Given the description of an element on the screen output the (x, y) to click on. 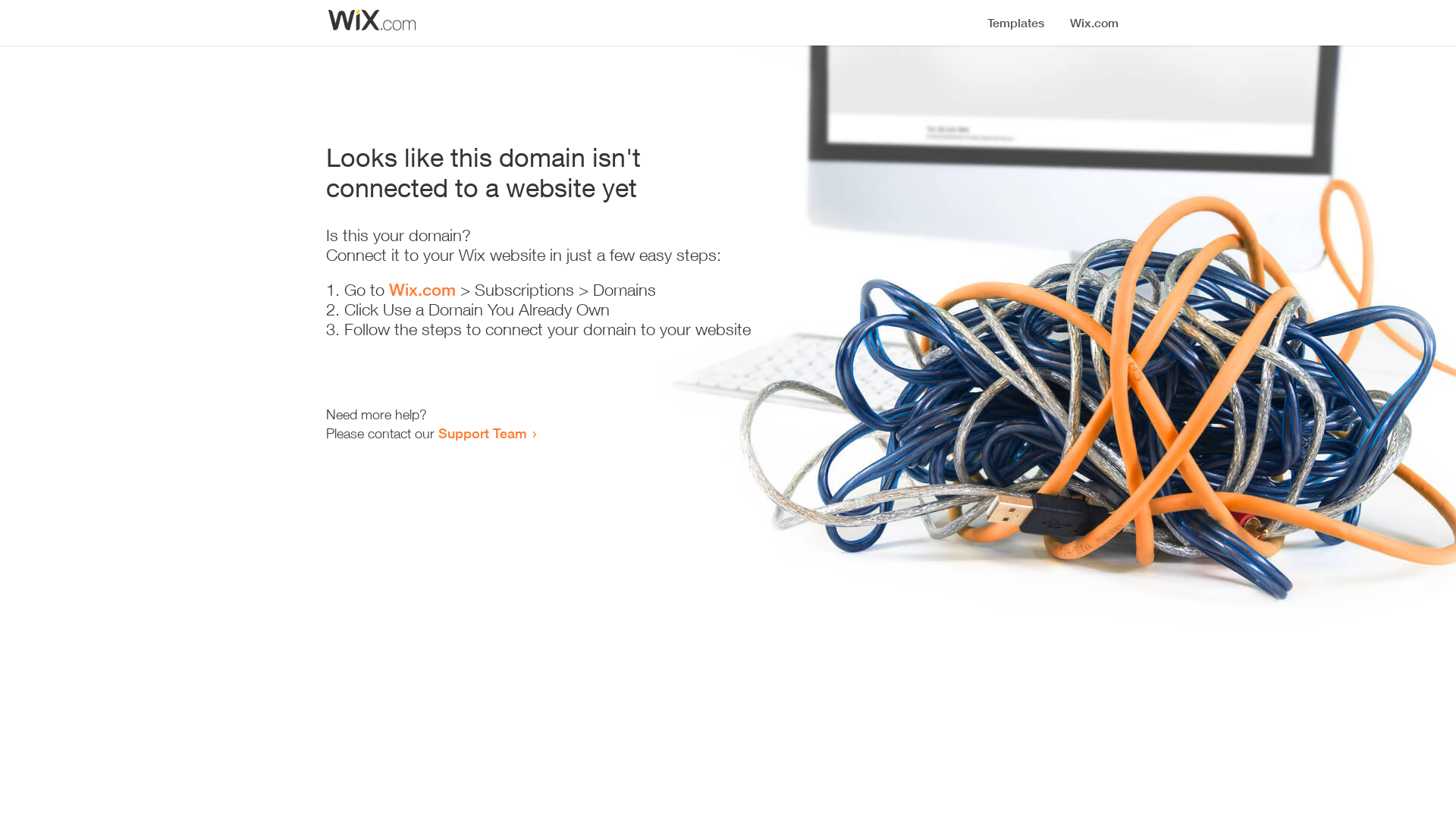
Support Team Element type: text (482, 432)
Wix.com Element type: text (422, 289)
